Given the description of an element on the screen output the (x, y) to click on. 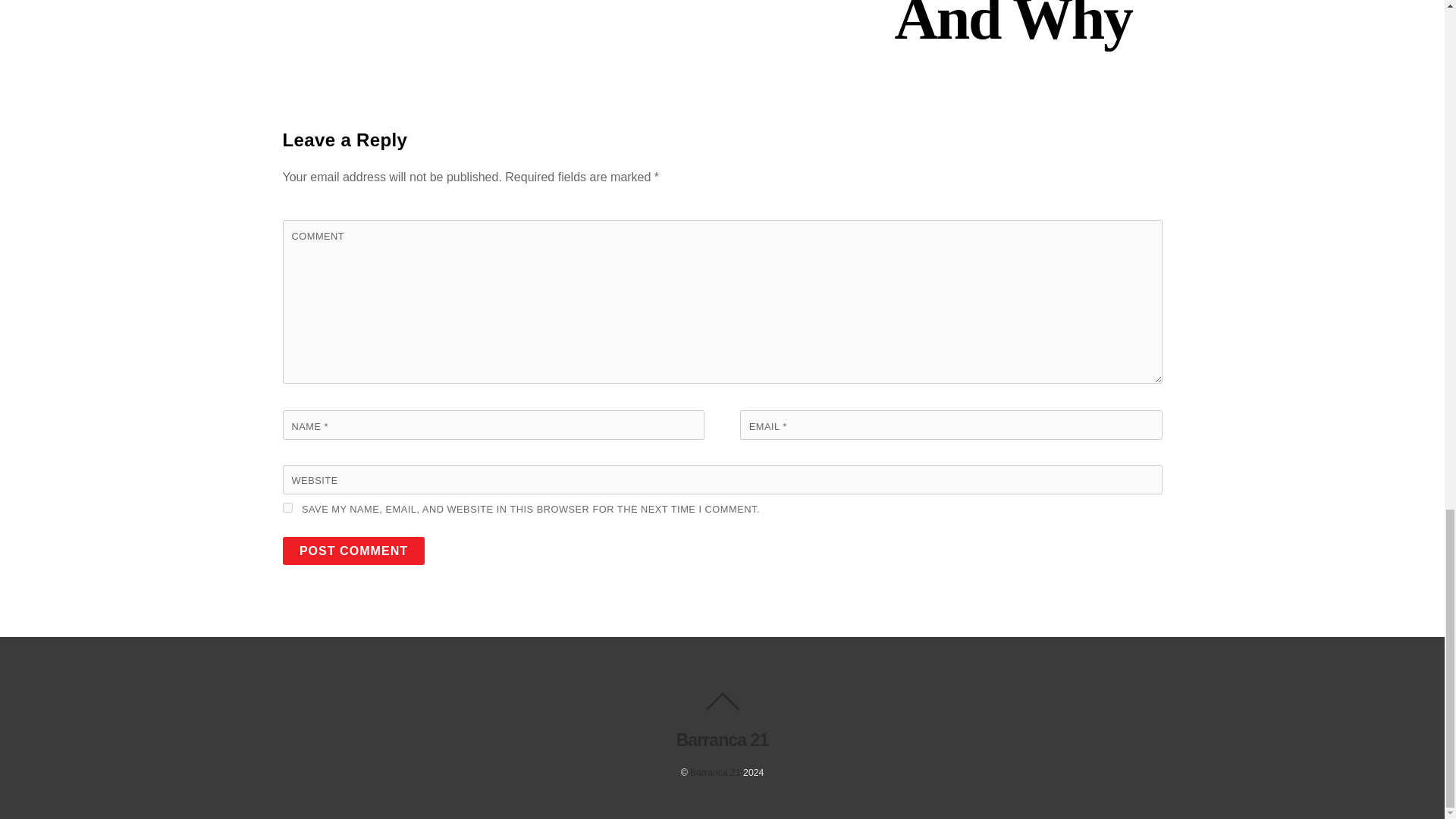
Barranca 21 (722, 740)
Post Comment (353, 551)
yes (287, 507)
Barranca 21 (715, 772)
Barranca 21 (722, 740)
Post Comment (353, 551)
